Given the description of an element on the screen output the (x, y) to click on. 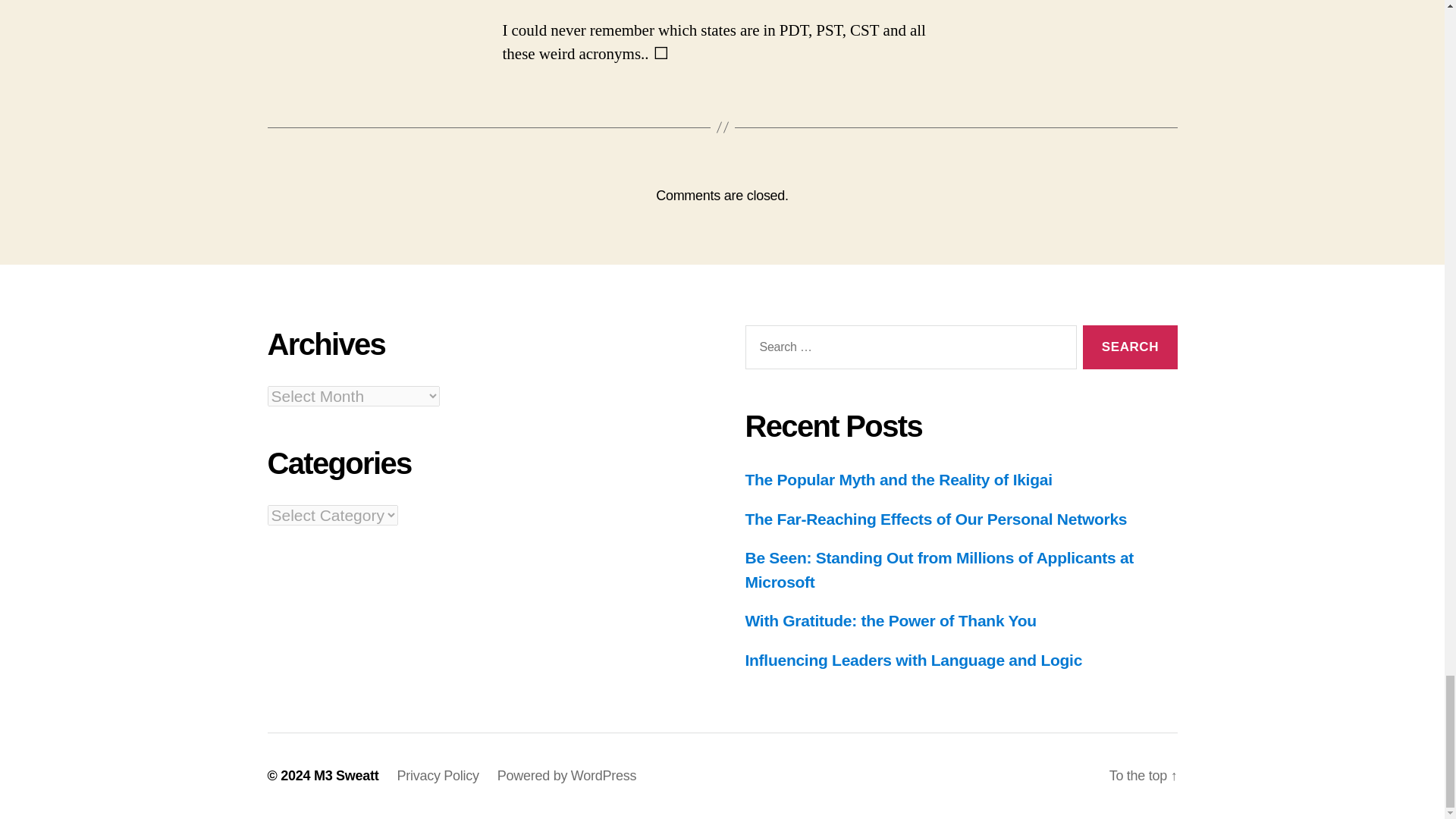
Search (1129, 347)
Search (1129, 347)
